Given the description of an element on the screen output the (x, y) to click on. 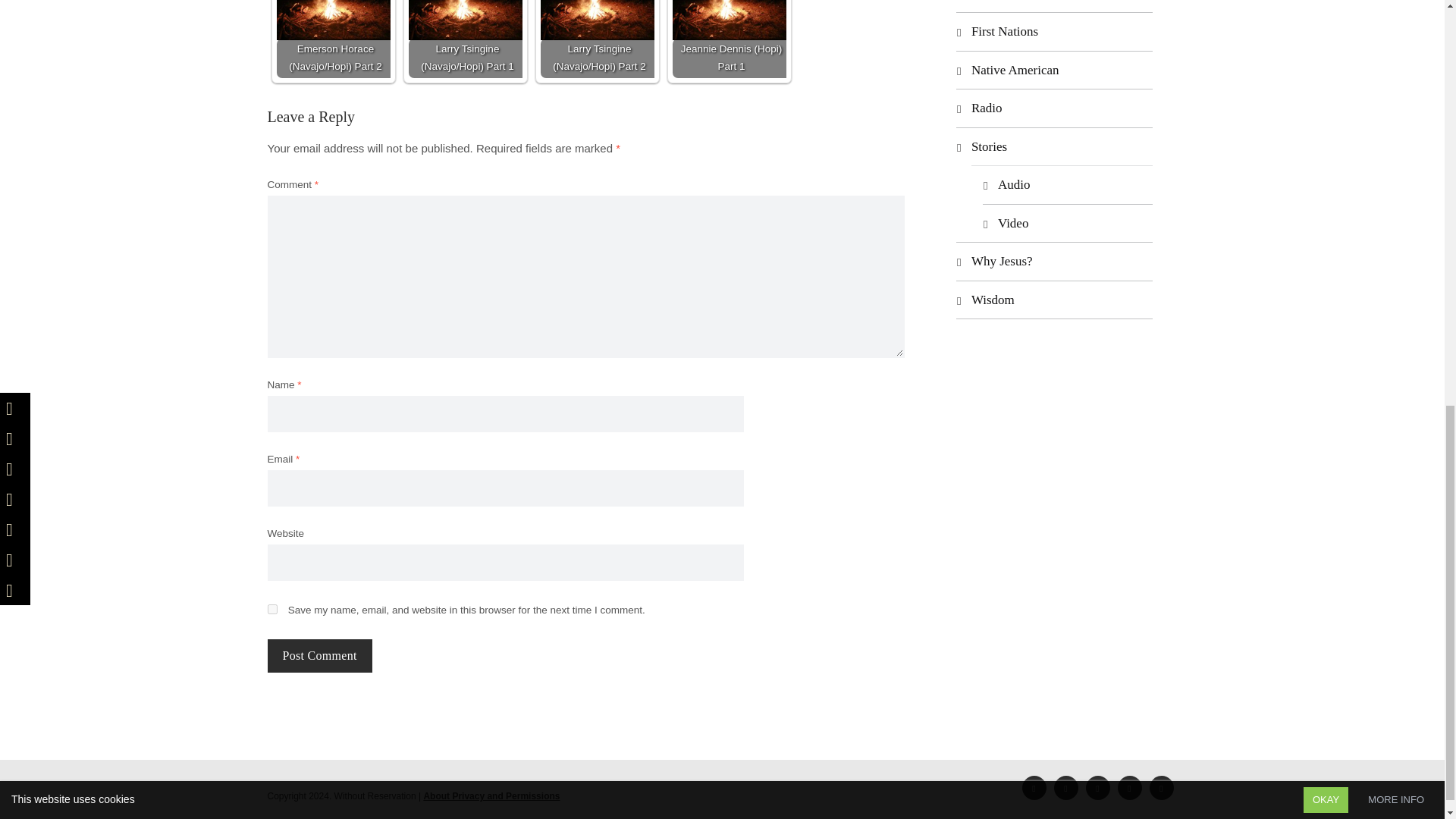
Twitter (1066, 787)
Post Comment (318, 655)
yes (271, 609)
Facebook (1034, 787)
Spotify (1097, 787)
